Given the description of an element on the screen output the (x, y) to click on. 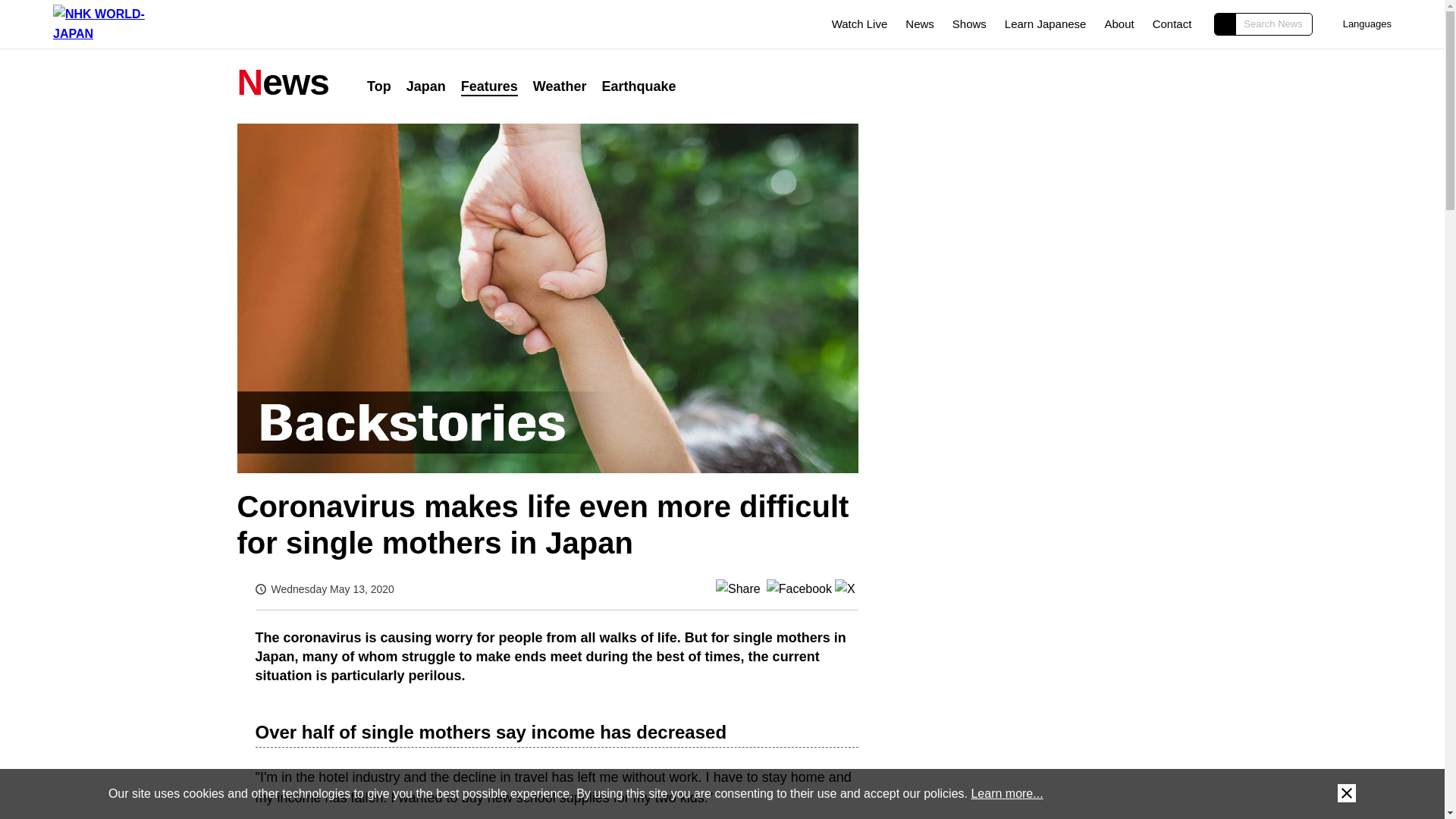
Languages (1359, 24)
About (1118, 23)
Search News (1262, 24)
Contact (1172, 23)
Shows (969, 23)
Watch Live (848, 24)
Learn Japanese (1045, 23)
News (919, 23)
